Given the description of an element on the screen output the (x, y) to click on. 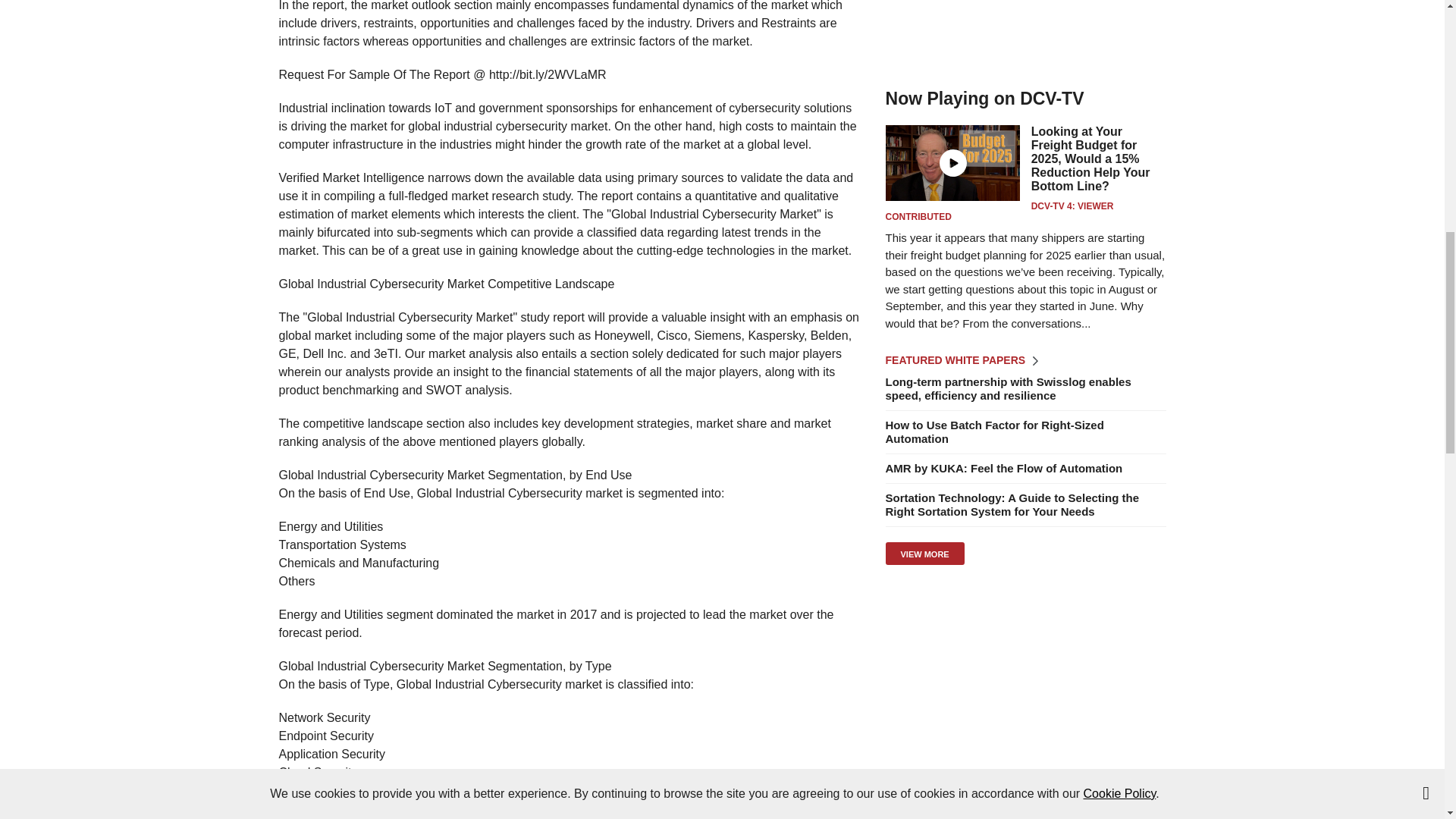
3rd party ad content (1024, 32)
3rd party ad content (1024, 682)
